Given the description of an element on the screen output the (x, y) to click on. 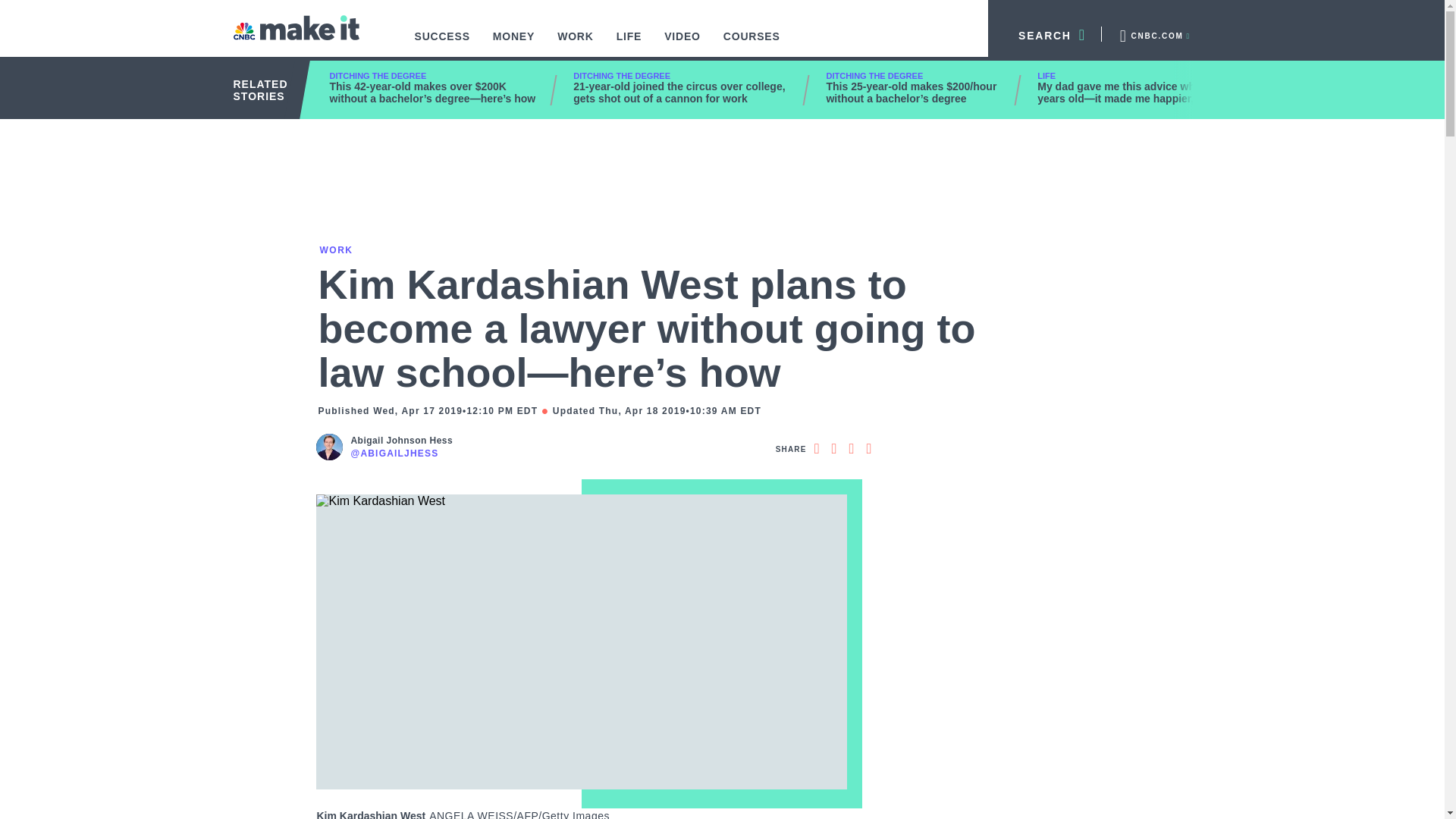
COURSES (751, 44)
MONEY (513, 44)
CNBC.COM (1153, 33)
SUCCESS (442, 44)
SEARCH (1045, 33)
VIDEO (681, 44)
WORK (575, 44)
LIFE (629, 44)
